Given the description of an element on the screen output the (x, y) to click on. 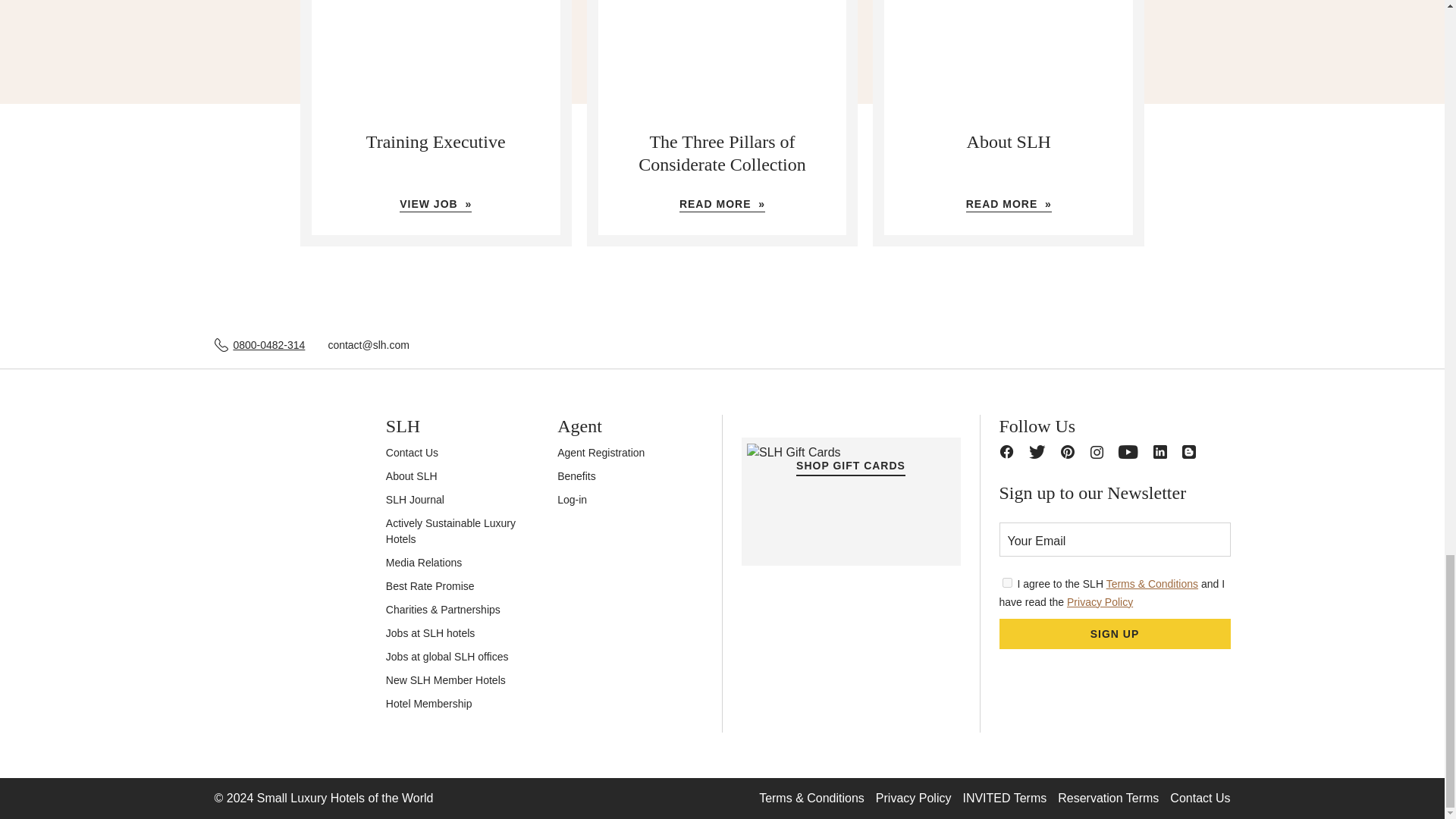
PrivacyPolicy (1007, 583)
Contact Us (411, 452)
Sign up (1114, 634)
0800-0482-314 (268, 344)
